Given the description of an element on the screen output the (x, y) to click on. 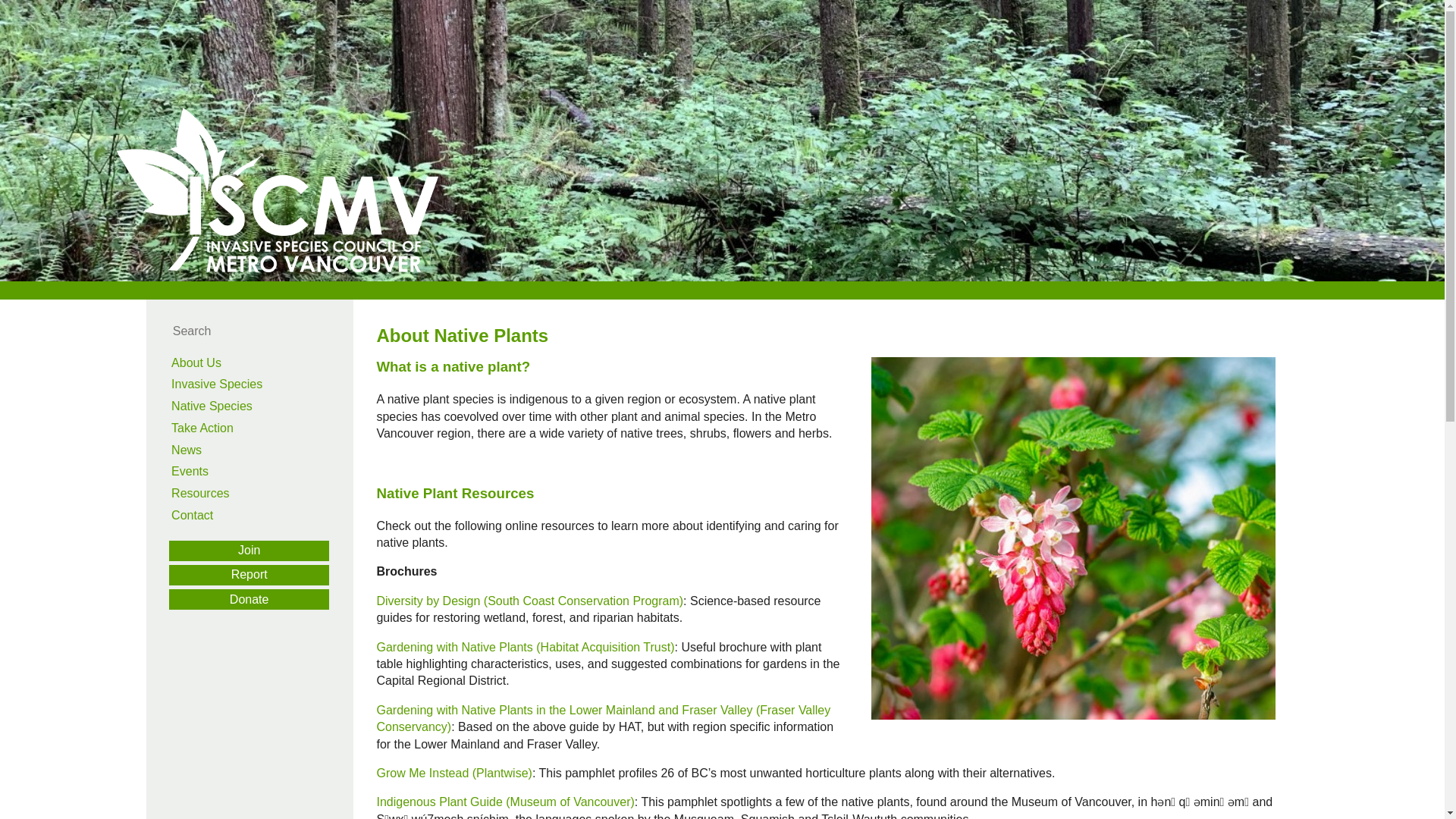
Resources (260, 494)
News (260, 450)
Native Species (260, 406)
Take Action (260, 428)
About Us (260, 362)
Events (260, 472)
Invasive Species (260, 384)
